Given the description of an element on the screen output the (x, y) to click on. 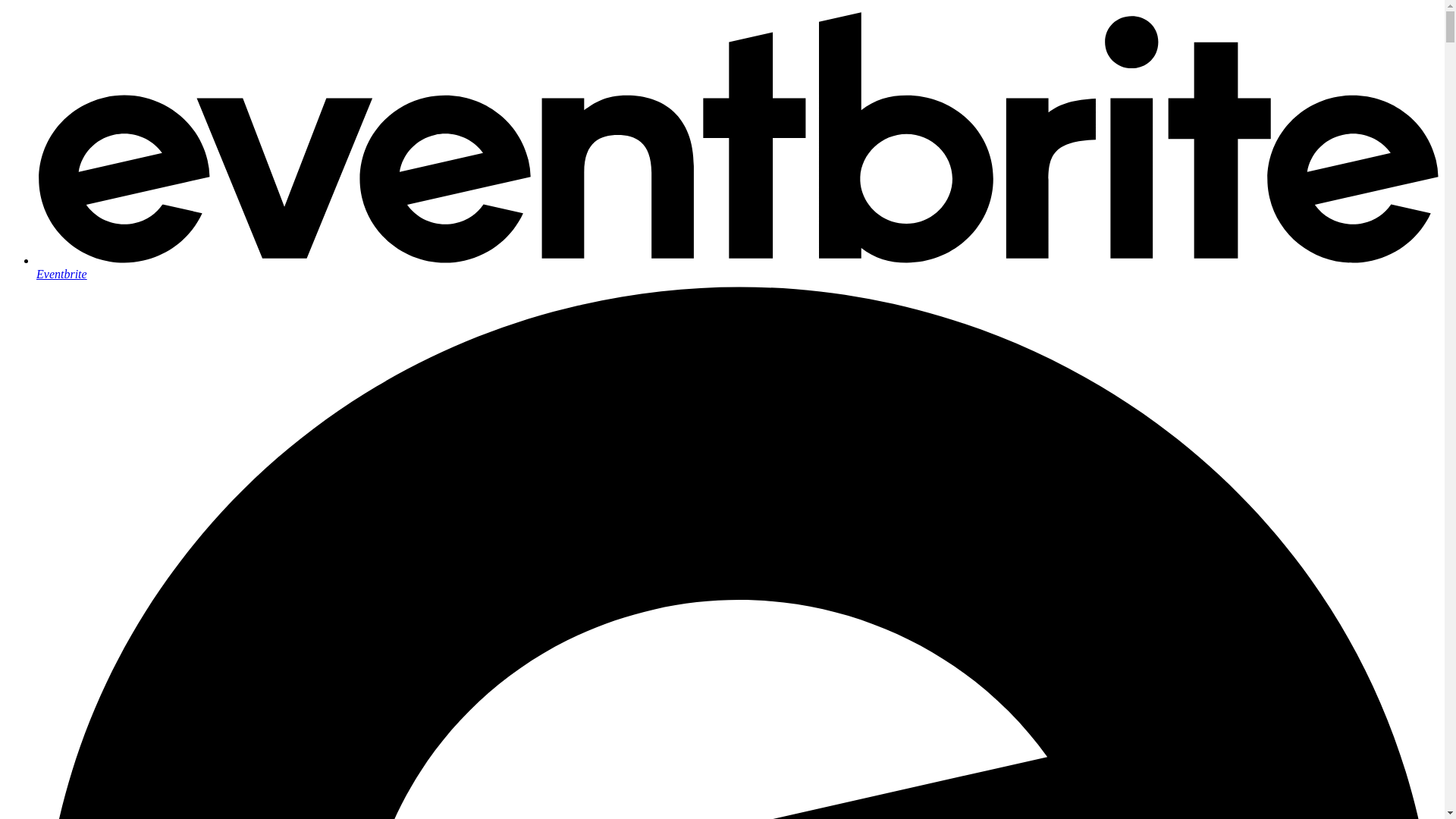
Eventbrite Element type: text (737, 267)
